Given the description of an element on the screen output the (x, y) to click on. 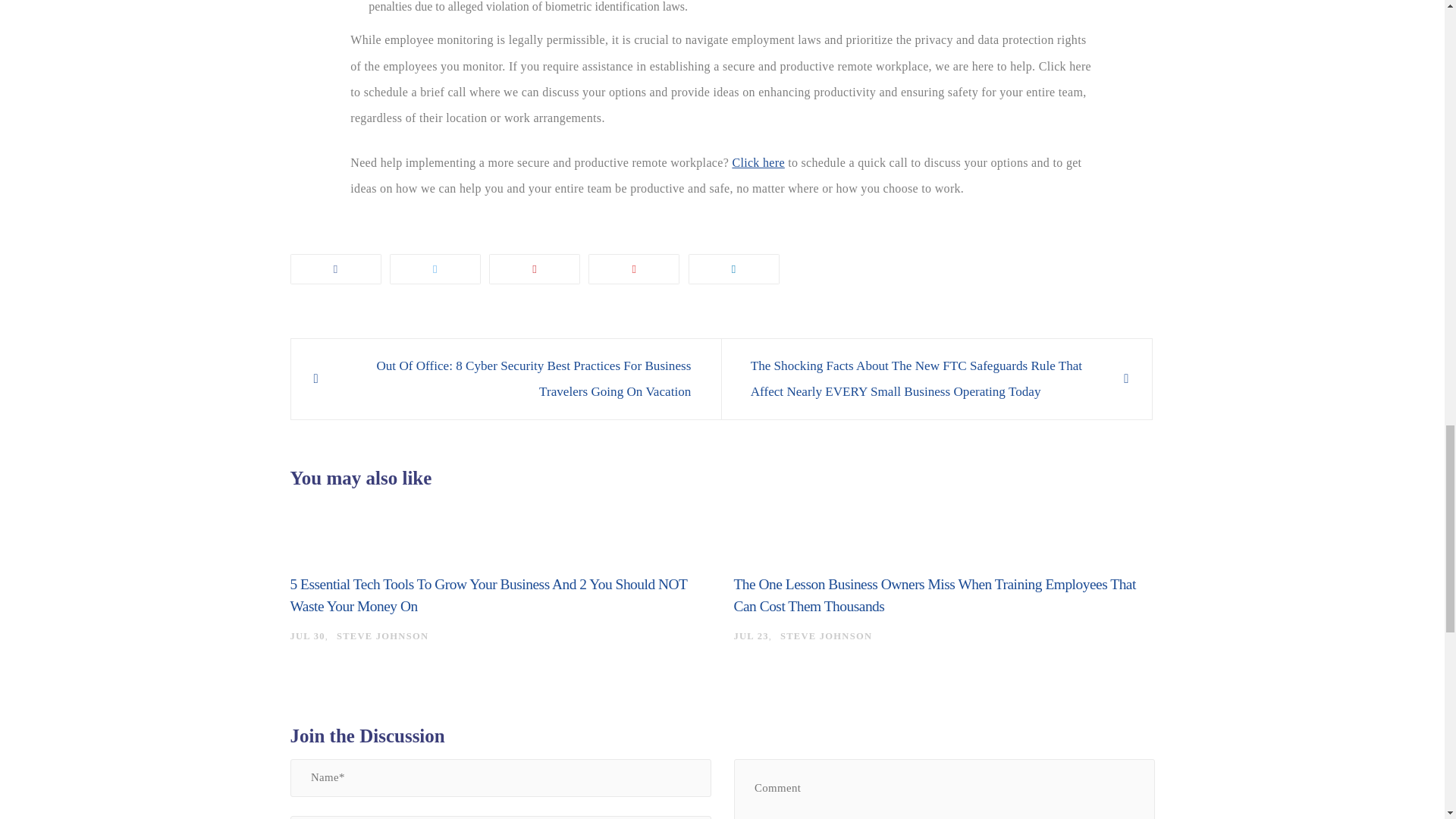
Posts by Steve Johnson (382, 636)
Sunday, July 30, 2023, 12:00 am (306, 635)
Posts by Steve Johnson (826, 636)
Sunday, July 23, 2023, 12:00 pm (750, 635)
